Given the description of an element on the screen output the (x, y) to click on. 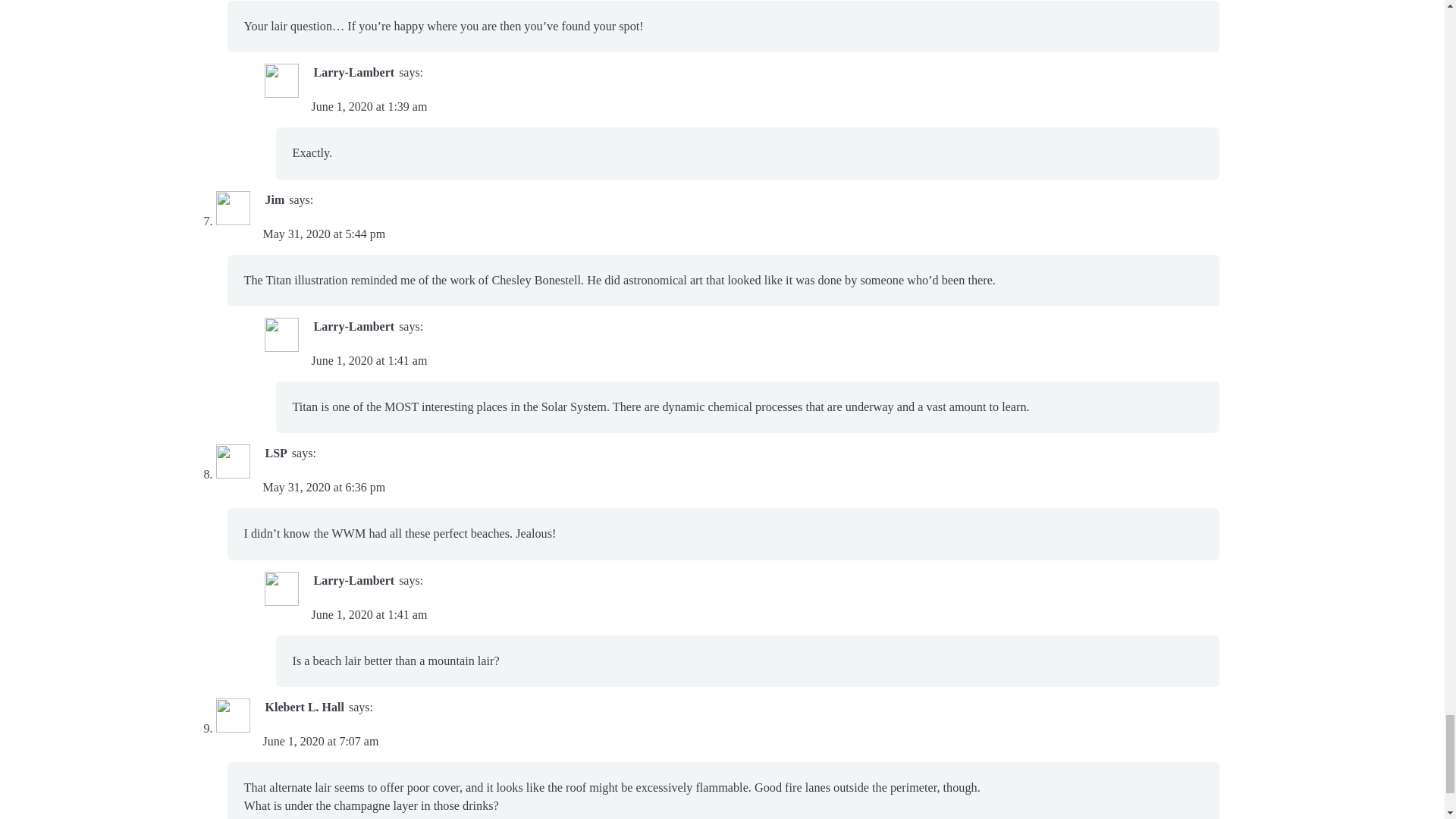
May 31, 2020 at 6:36 pm (323, 486)
June 1, 2020 at 1:41 am (368, 614)
May 31, 2020 at 5:44 pm (323, 233)
June 1, 2020 at 1:39 am (368, 106)
June 1, 2020 at 7:07 am (320, 740)
June 1, 2020 at 1:41 am (368, 359)
LSP (275, 452)
